Given the description of an element on the screen output the (x, y) to click on. 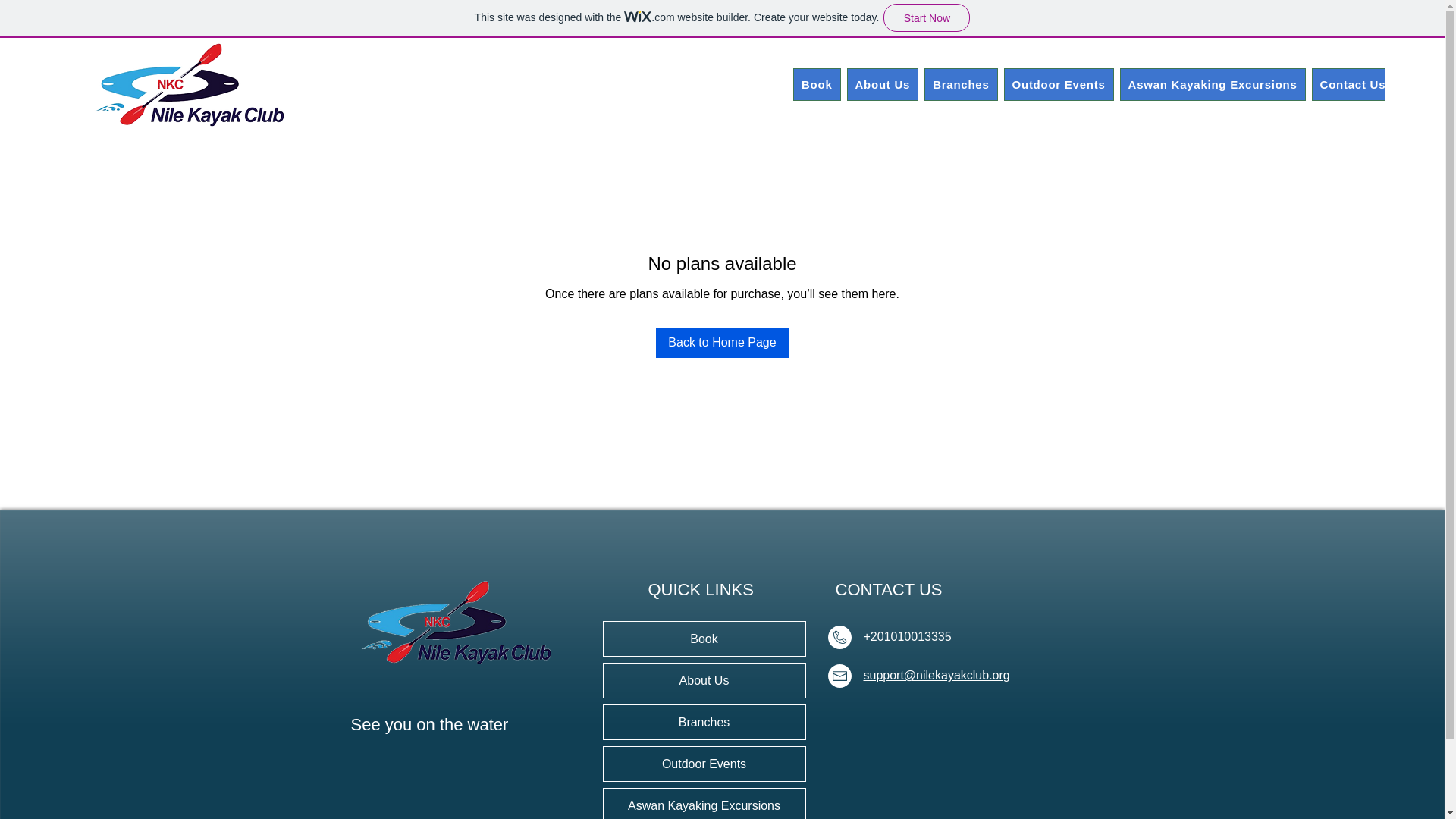
About Us (704, 680)
Aswan Kayaking Excursions (1212, 83)
Back to Home Page (721, 342)
About Us (881, 83)
Aswan Kayaking Excursions (704, 803)
Branches (960, 83)
Outdoor Events (704, 763)
Contact Us (1352, 83)
Book (817, 83)
Outdoor Events (1058, 83)
Branches (704, 722)
Book (704, 638)
